Given the description of an element on the screen output the (x, y) to click on. 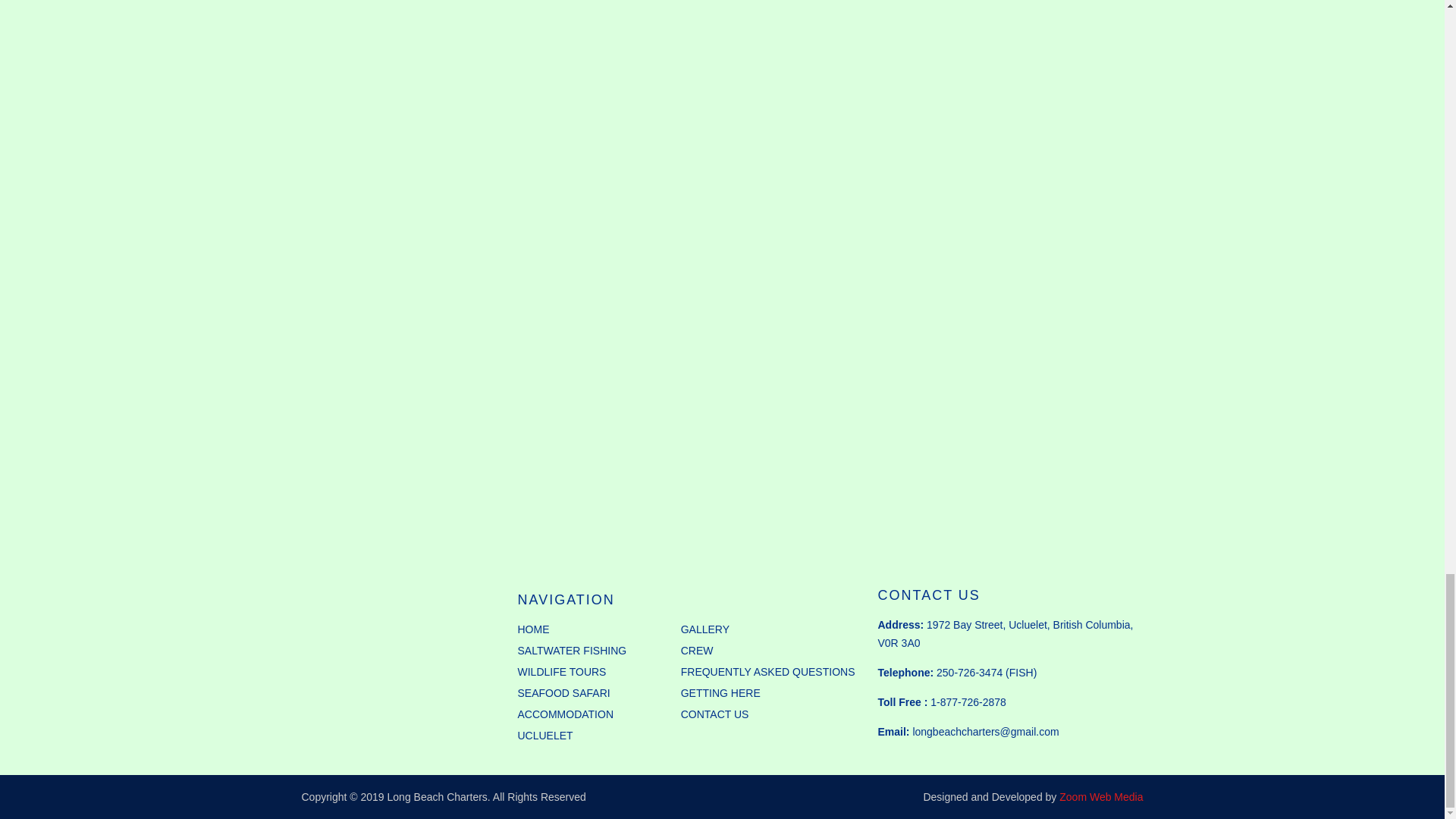
UCLUELET (544, 737)
Zoom Web Media (1100, 797)
ACCOMMODATION (564, 715)
SALTWATER FISHING (571, 652)
HOME (532, 630)
CREW (697, 652)
GETTING HERE (720, 694)
WILDLIFE TOURS (560, 673)
SEAFOOD SAFARI (563, 694)
GALLERY (705, 630)
FREQUENTLY ASKED QUESTIONS (768, 673)
CONTACT US (715, 715)
